Given the description of an element on the screen output the (x, y) to click on. 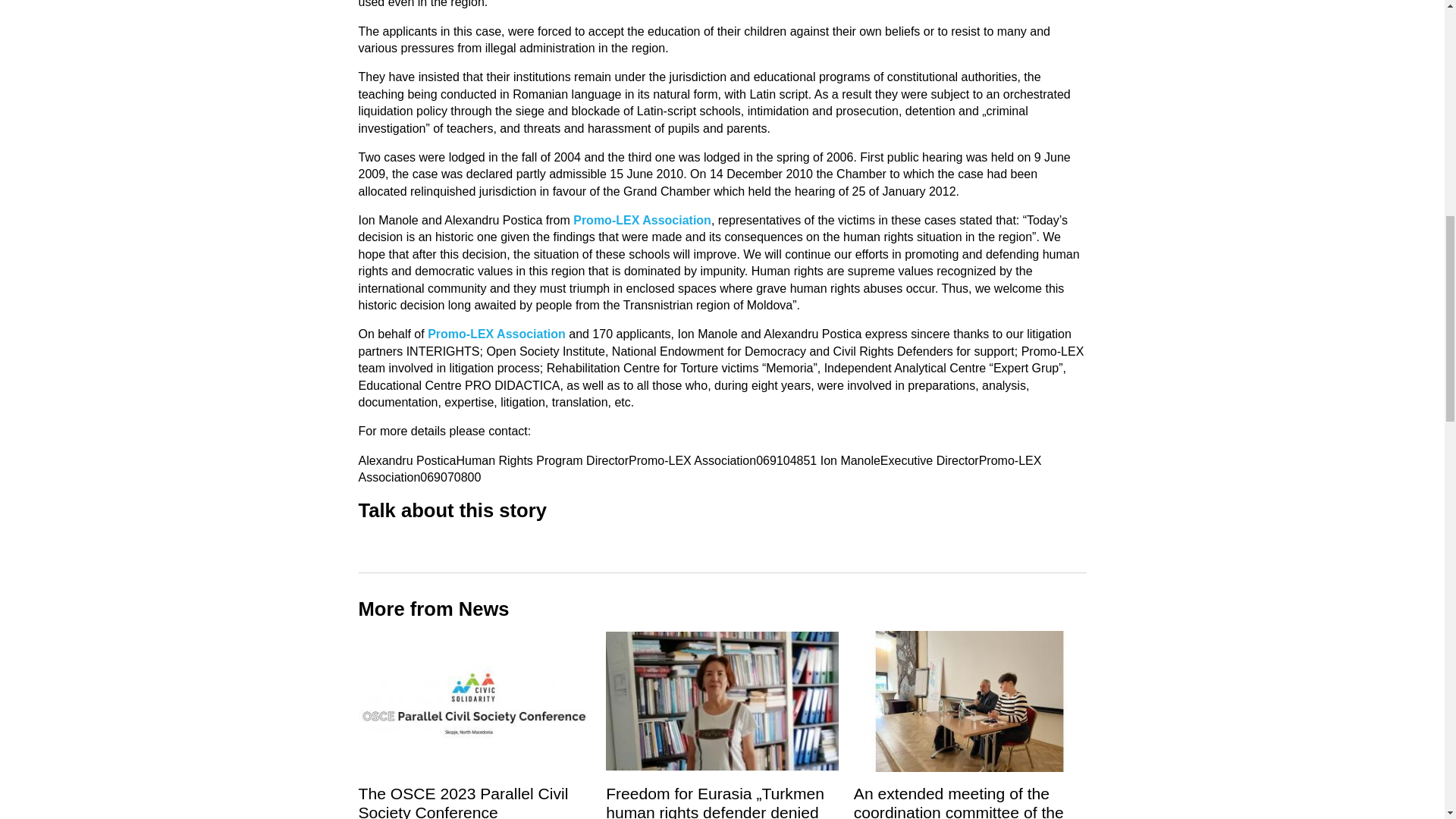
Promo-LEX Association (497, 333)
More from News (433, 608)
The OSCE 2023 Parallel Civil Society Conference (462, 801)
Promo-LEX Association (642, 219)
